Given the description of an element on the screen output the (x, y) to click on. 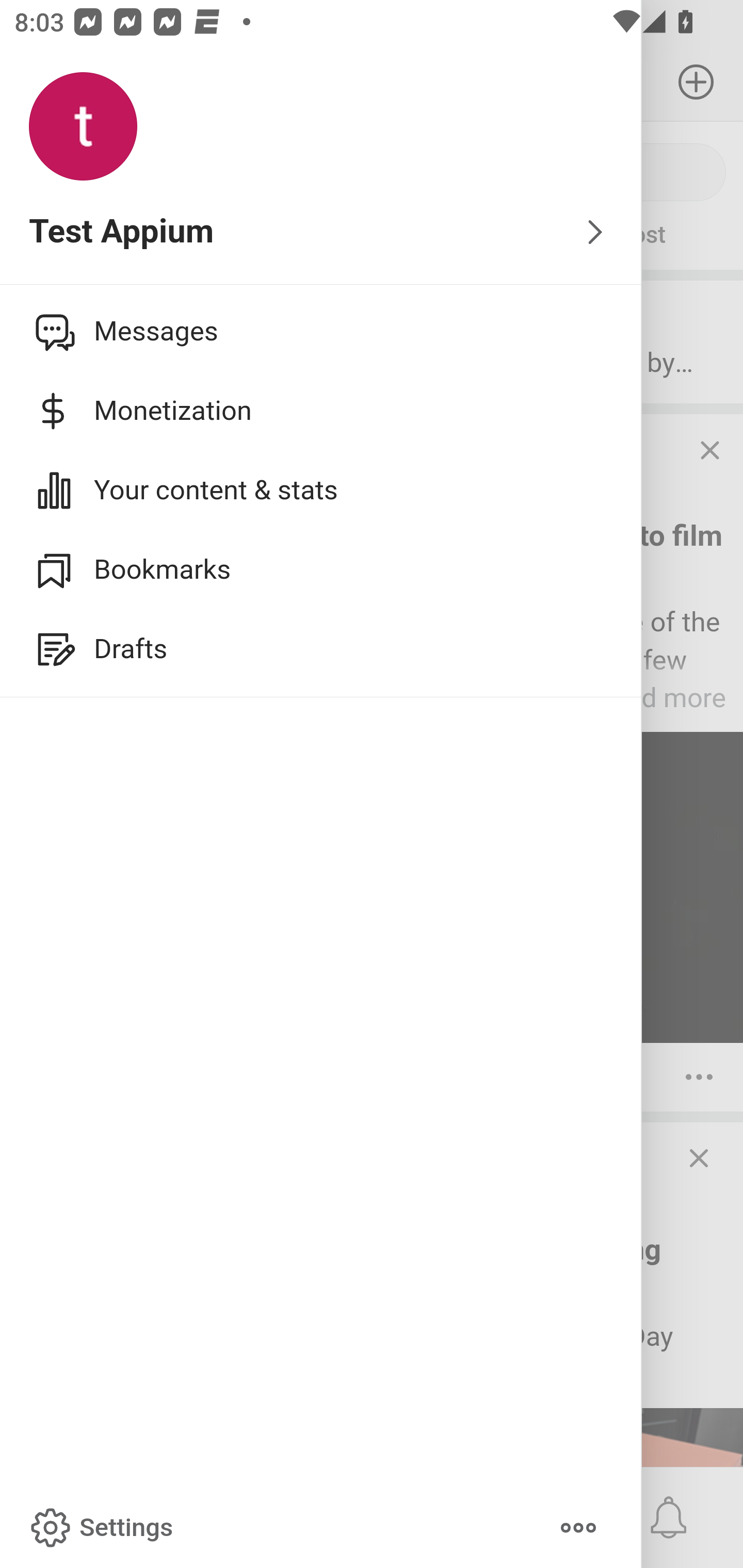
Profile photo for Test Appium (82, 126)
Test Appium (321, 232)
Ask (116, 234)
Messages (321, 330)
Monetization (321, 410)
Your content & stats (321, 489)
Bookmarks (321, 568)
Drafts (321, 648)
Settings (99, 1527)
More (578, 1527)
